Given the description of an element on the screen output the (x, y) to click on. 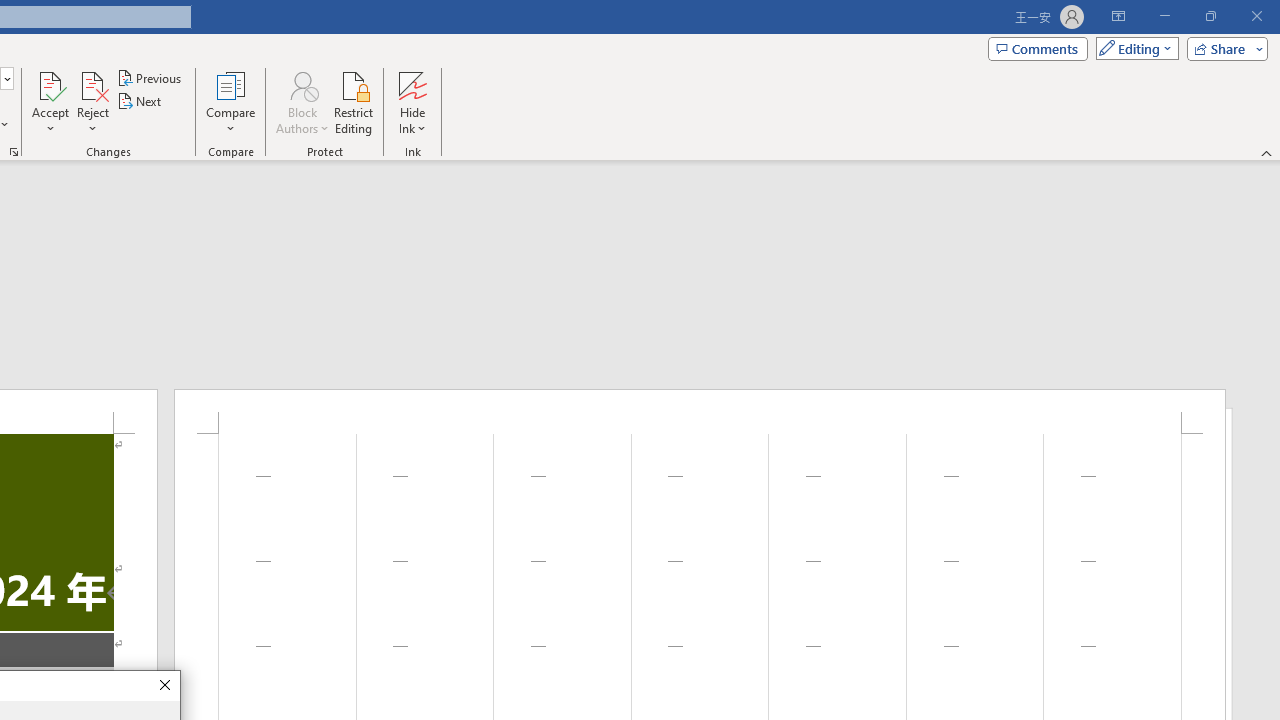
Reject and Move to Next (92, 84)
Accept (50, 102)
Hide Ink (412, 84)
Hide Ink (412, 102)
Restrict Editing (353, 102)
